Given the description of an element on the screen output the (x, y) to click on. 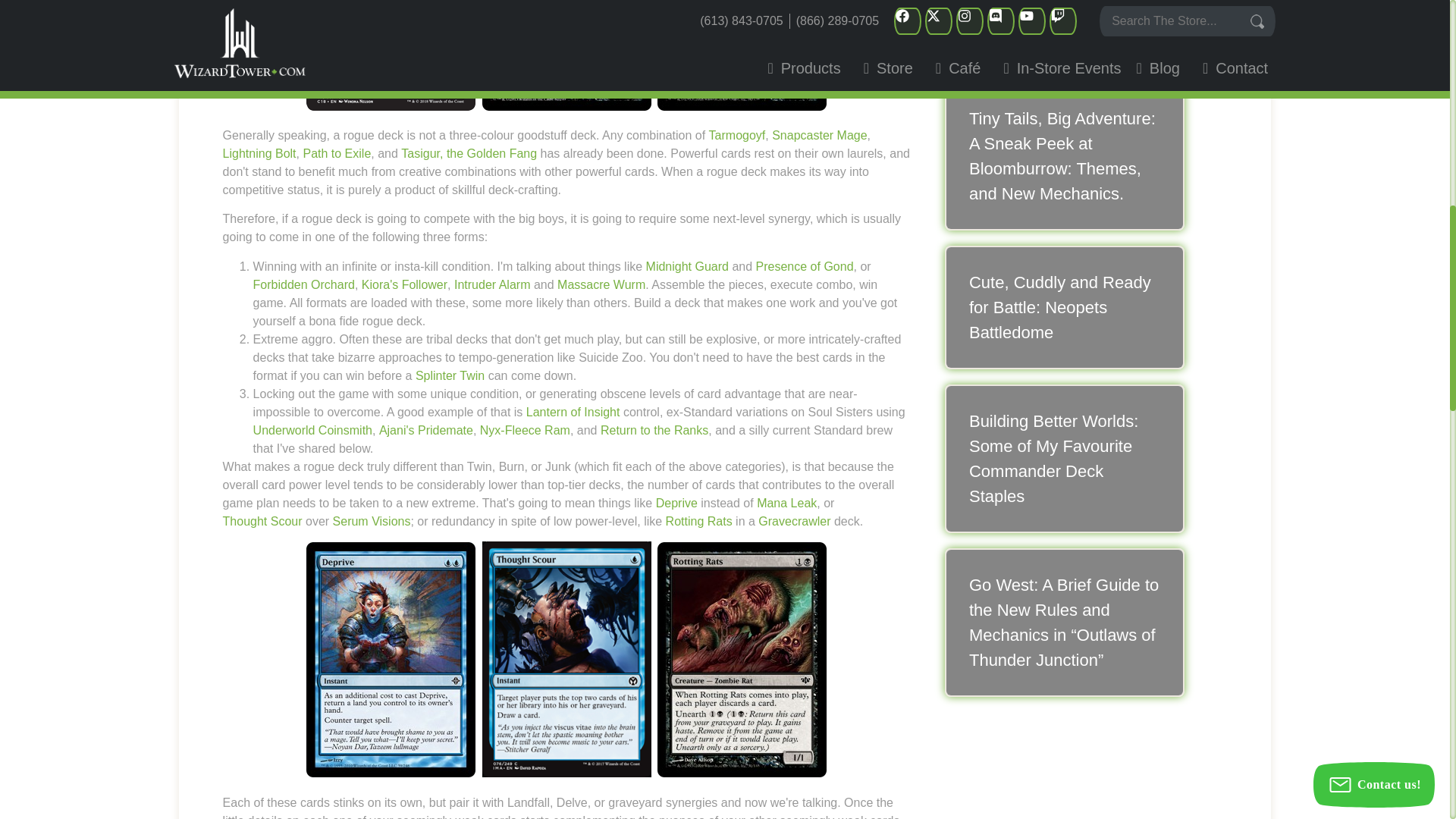
Whirler Rogue (390, 55)
Earwig Squad (742, 55)
Undercity Informer (565, 55)
